Given the description of an element on the screen output the (x, y) to click on. 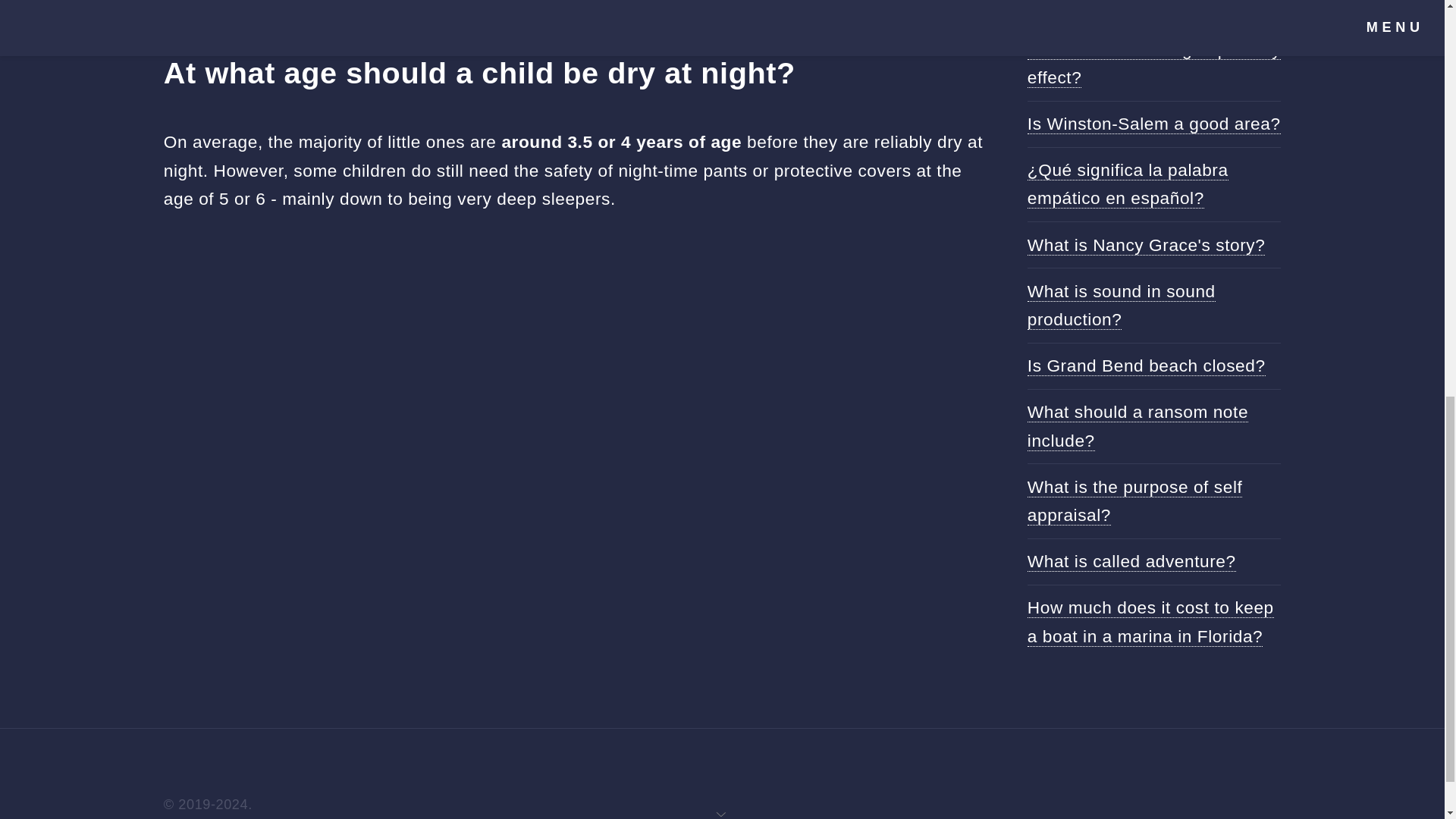
Is Grand Bend beach closed? (1146, 365)
What is sound in sound production? (1121, 305)
Is Winston-Salem a good area? (1154, 123)
What is the purpose of self appraisal? (1135, 500)
What is Nancy Grace's story? (1146, 245)
What should a ransom note include? (1137, 426)
How much does it cost to keep a boat in a marina in Florida? (1150, 621)
What is the meaning of primacy effect? (1154, 63)
What is called adventure? (1131, 561)
